Given the description of an element on the screen output the (x, y) to click on. 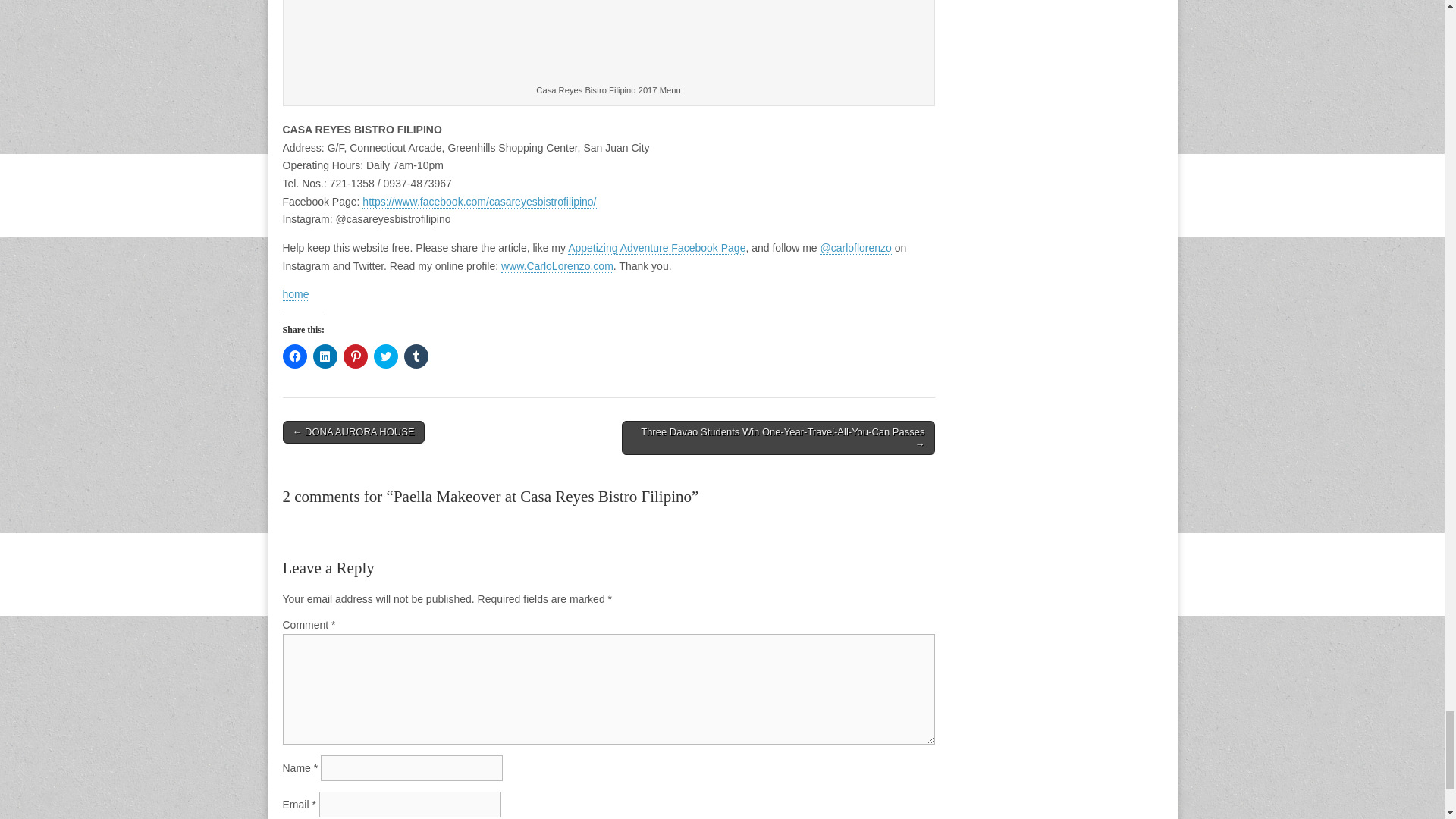
Carlo Lorenzo's online profile (556, 266)
Click to share on Tumblr (415, 355)
Click to share on Twitter (384, 355)
home (295, 294)
Click to share on Pinterest (354, 355)
Click to share on Facebook (293, 355)
Appetizing Adventure Facebook Page (656, 247)
Click to share on LinkedIn (324, 355)
